Given the description of an element on the screen output the (x, y) to click on. 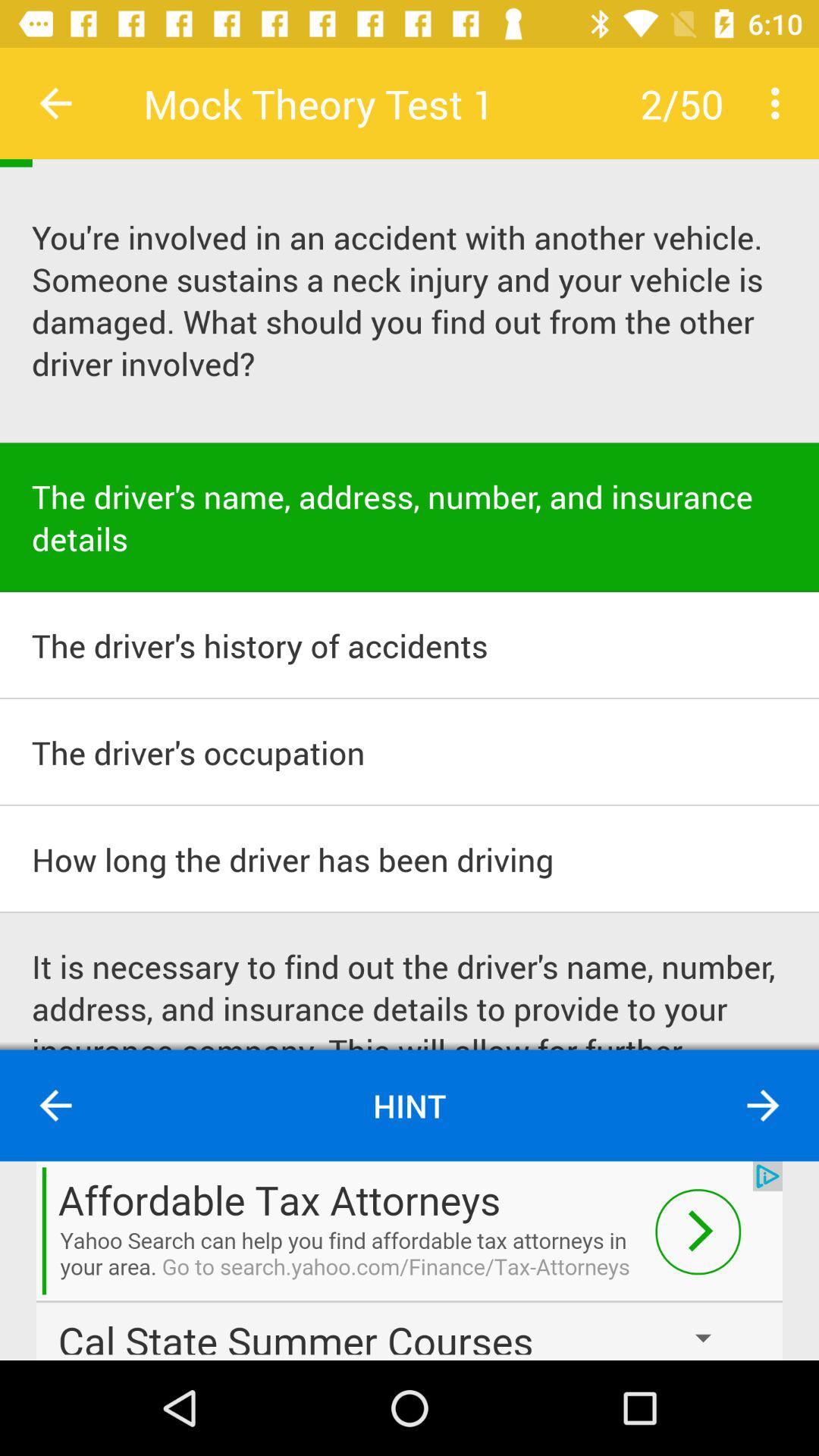
know about the advertisement (409, 1260)
